Given the description of an element on the screen output the (x, y) to click on. 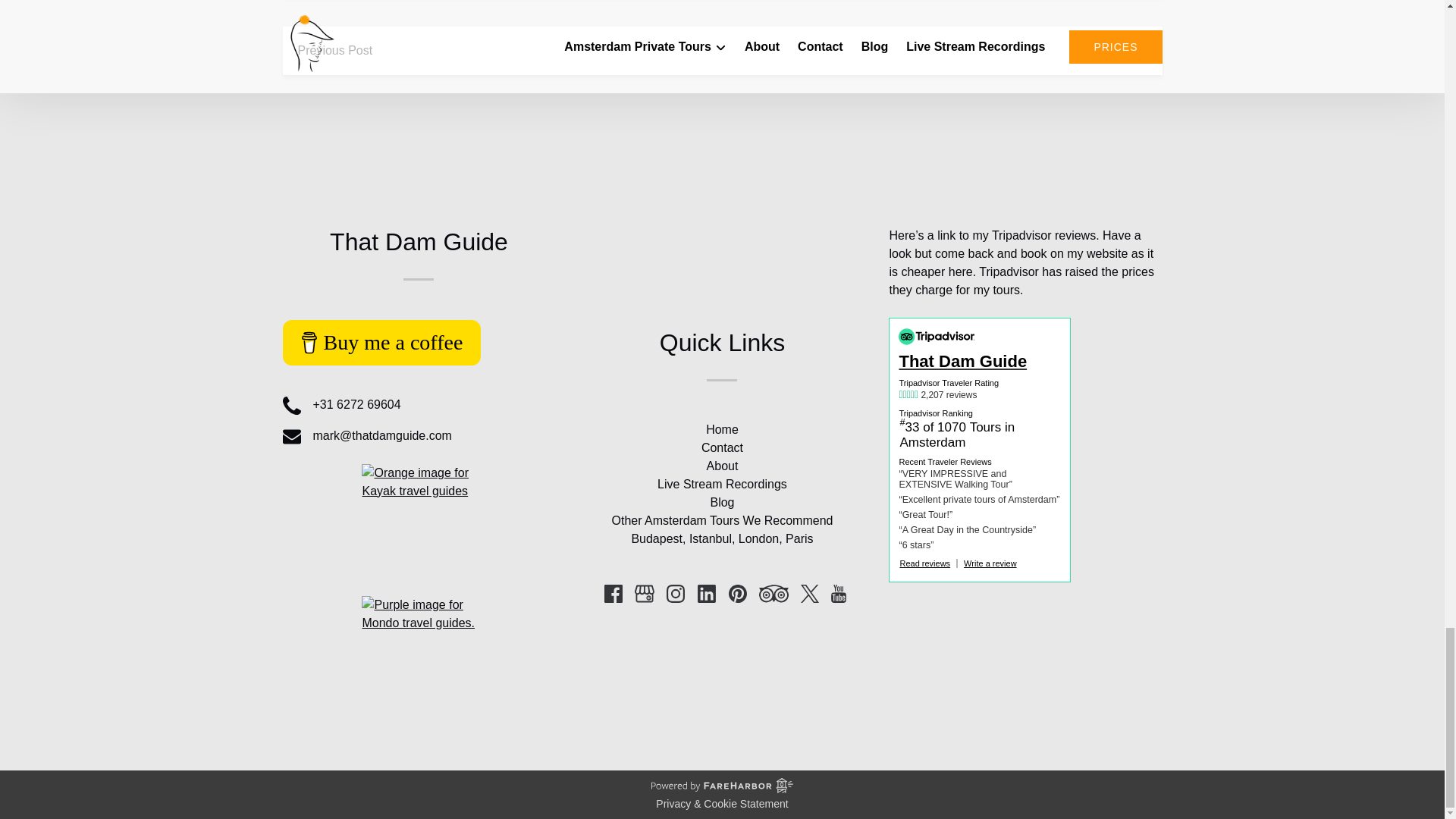
Envelope (290, 436)
Previous Post (334, 50)
Buy me a coffee (381, 342)
Home (722, 429)
Contact (721, 447)
Next Post (1119, 50)
Click here to visit previous post (334, 50)
Phone (290, 405)
